Given the description of an element on the screen output the (x, y) to click on. 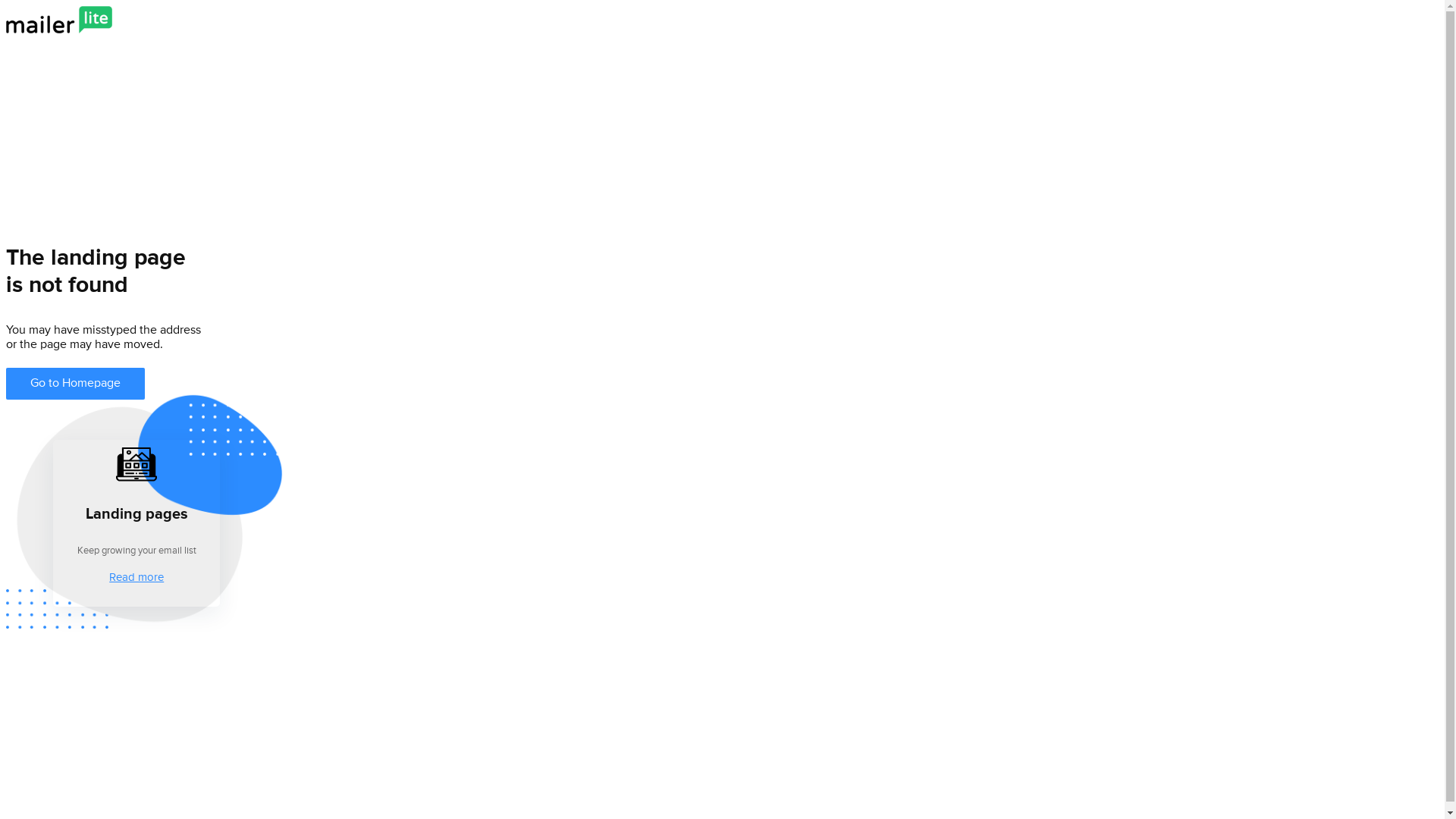
Go to Homepage Element type: text (75, 382)
Read more Element type: text (136, 575)
